Given the description of an element on the screen output the (x, y) to click on. 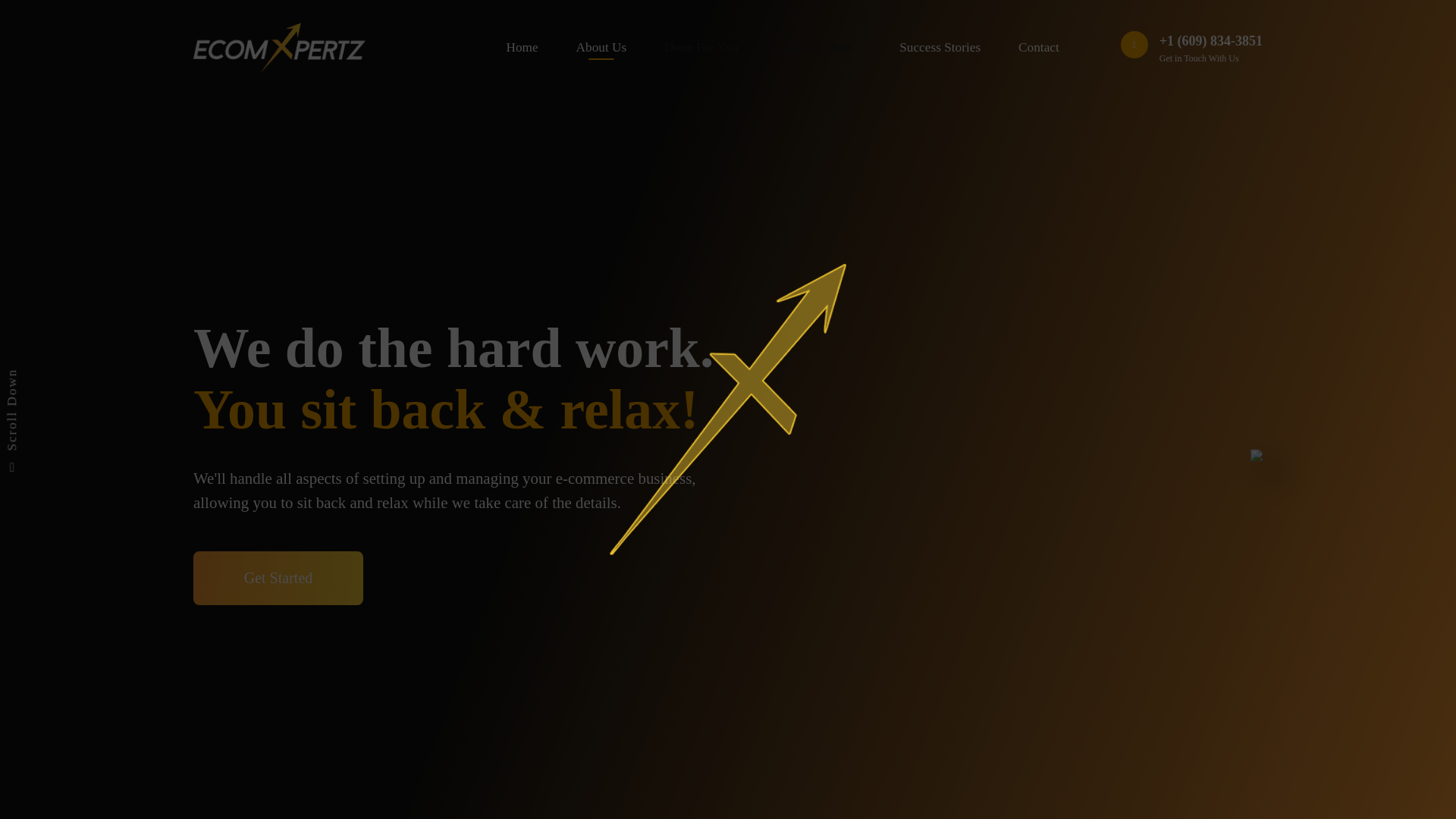
Get Started (277, 578)
About Us (601, 47)
Just In Time (823, 47)
Success Stories (939, 47)
Done For You (705, 47)
Contact (1038, 47)
Home (522, 47)
Scroll Down (52, 378)
